Given the description of an element on the screen output the (x, y) to click on. 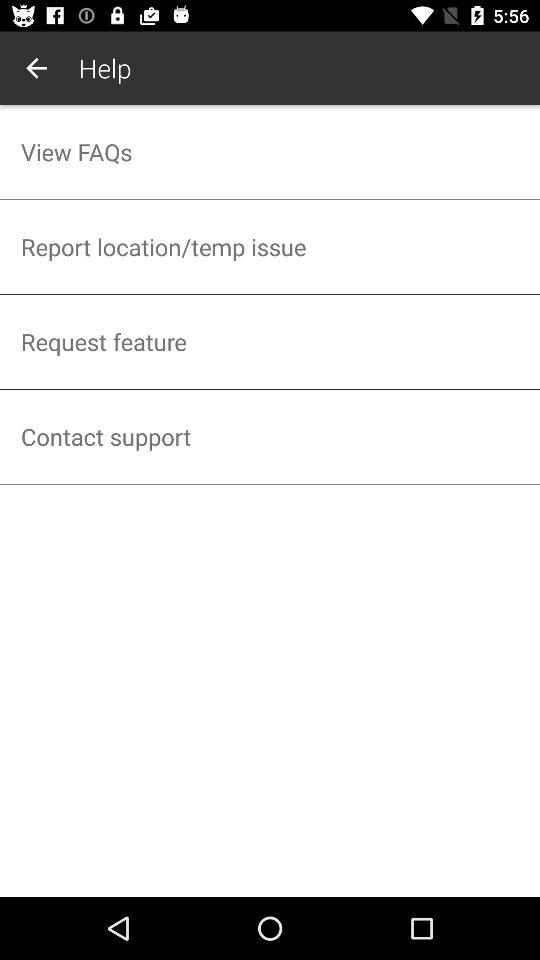
open app to the left of help icon (36, 68)
